Given the description of an element on the screen output the (x, y) to click on. 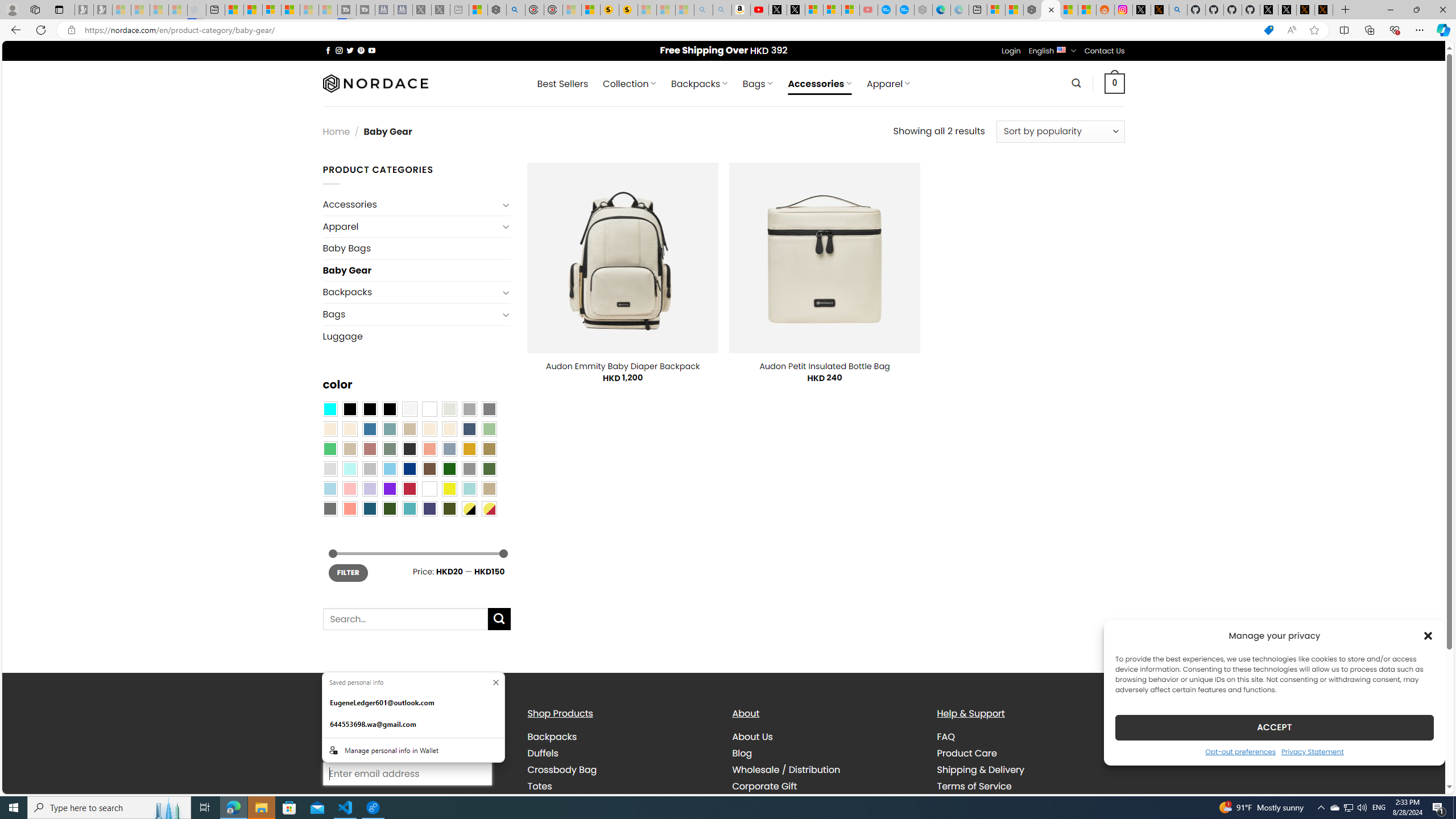
Emerald Green (329, 448)
Forest (389, 508)
All Black (349, 408)
Duffels (620, 753)
Caramel (429, 428)
Yellow-Black (468, 508)
Blue Sage (389, 428)
Product Care (966, 753)
644553698.wa@gmail.com. :Basic info suggestion. (413, 724)
About Us (826, 737)
